Given the description of an element on the screen output the (x, y) to click on. 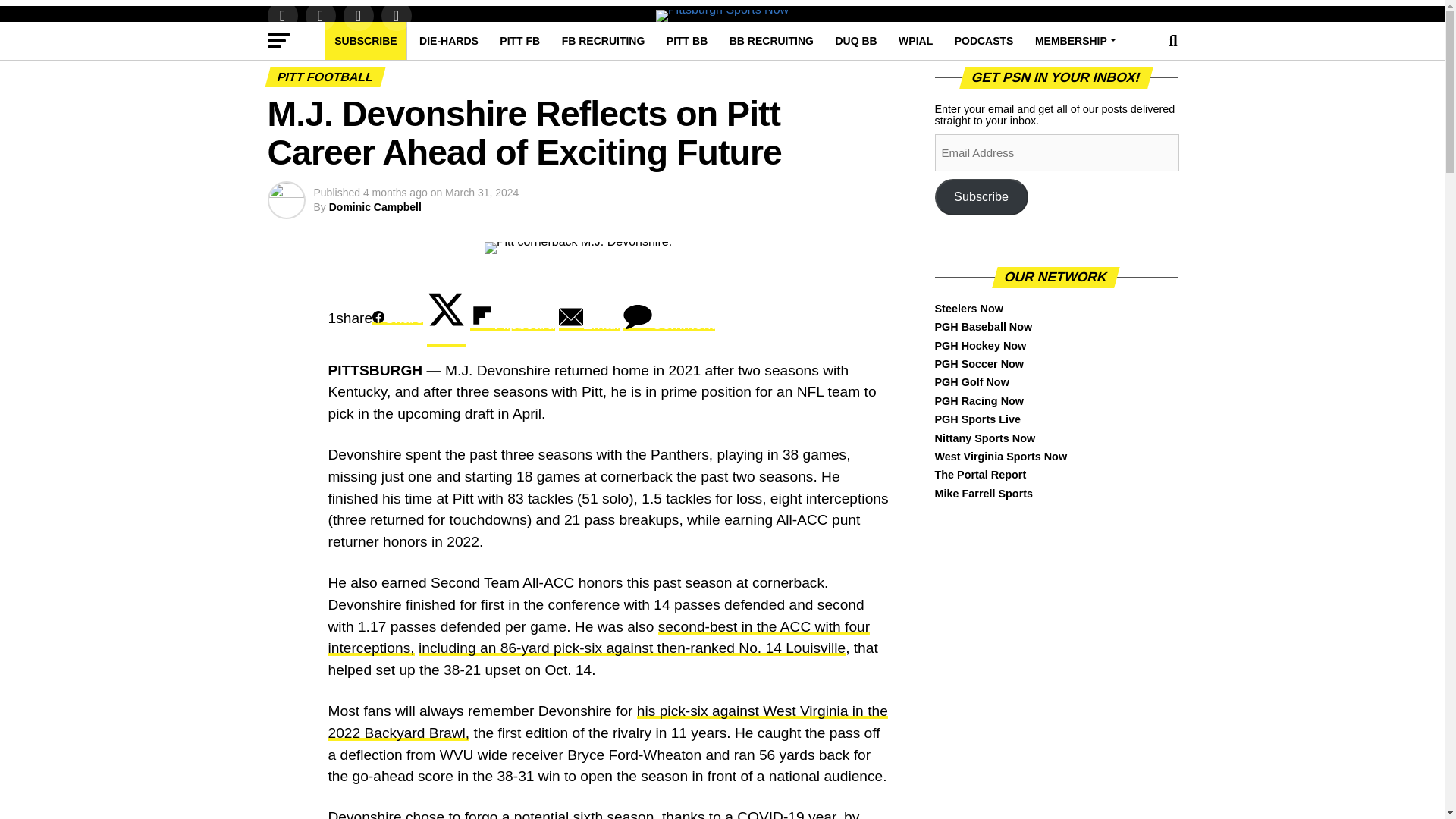
Share on Flipboard (512, 317)
Share on Comment (668, 317)
Share on Email (589, 317)
Share on Share (397, 318)
Share on Tweet (445, 318)
Posts by Dominic Campbell (375, 206)
